Given the description of an element on the screen output the (x, y) to click on. 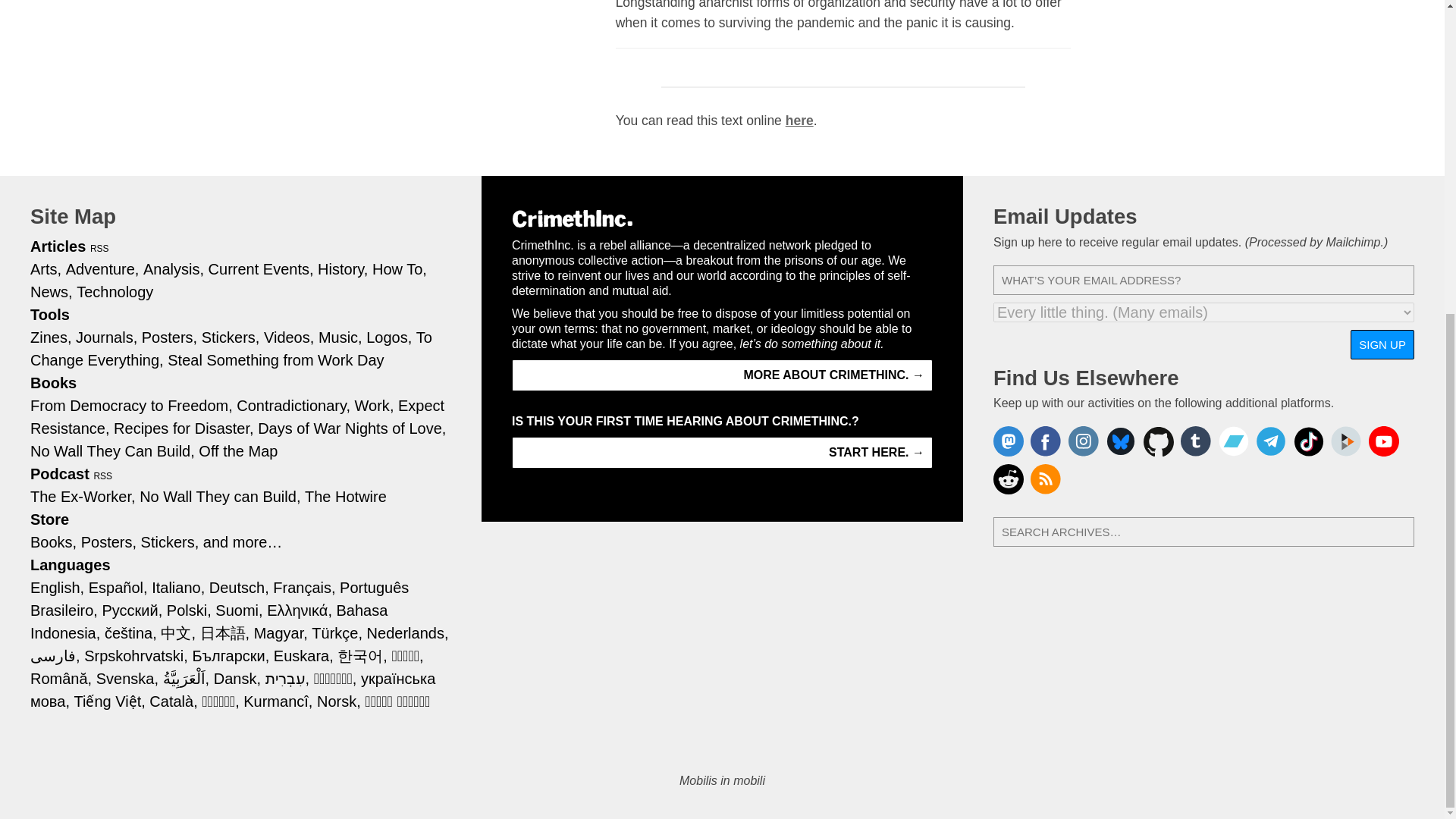
Posters (168, 336)
Analysis (172, 268)
Arts (45, 268)
Zines (50, 336)
How To (399, 268)
History (342, 268)
RSS (99, 248)
Stickers (231, 336)
here (799, 120)
Technology (114, 290)
